Given the description of an element on the screen output the (x, y) to click on. 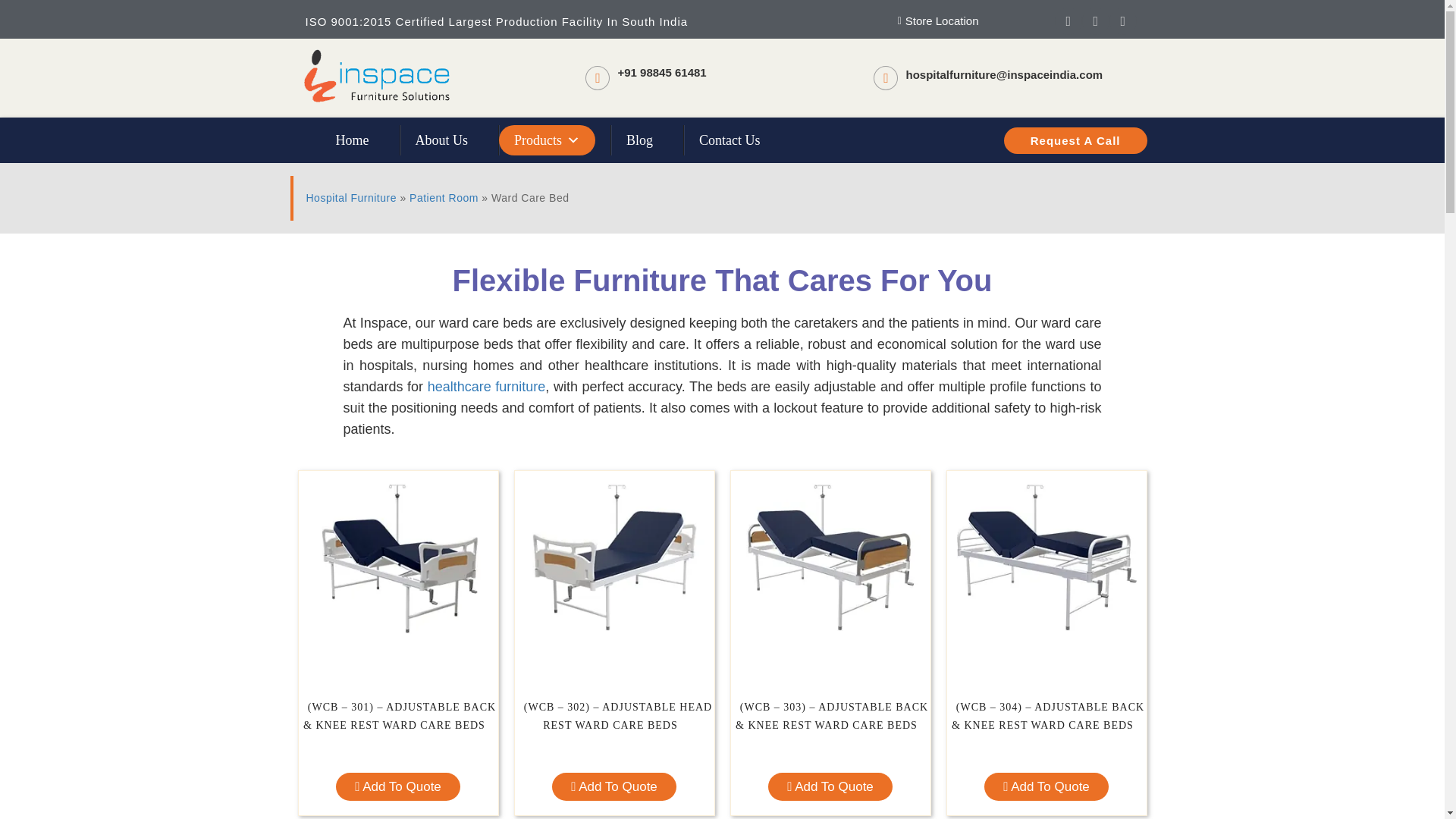
Home (352, 140)
ISO 9001:2015 Certified (374, 21)
Products (547, 140)
Store Location (853, 21)
About Us (441, 140)
